Given the description of an element on the screen output the (x, y) to click on. 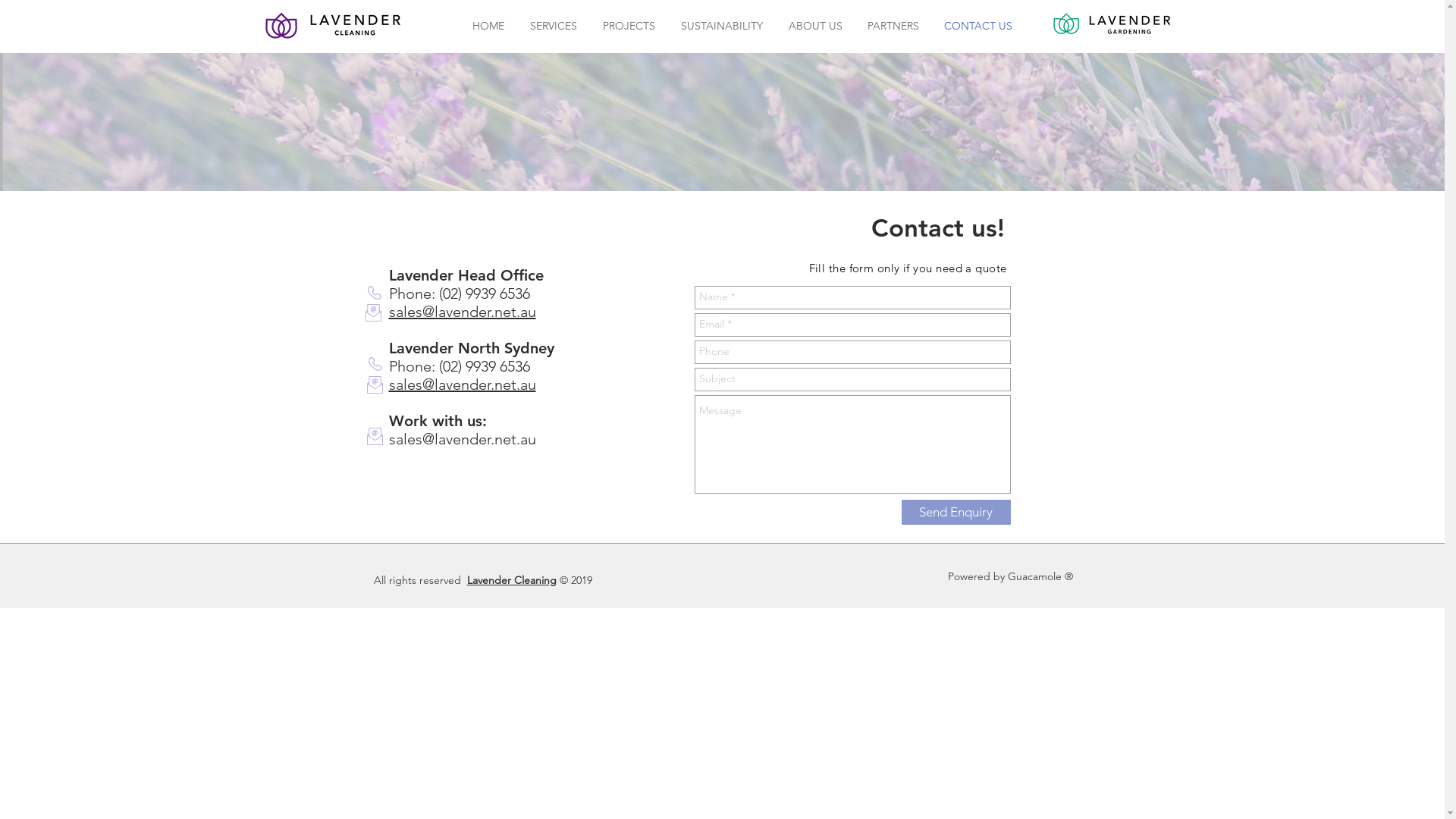
sales@lavender.net.au Element type: text (461, 311)
CONTACT US Element type: text (977, 25)
PROJECTS Element type: text (628, 25)
ABOUT US Element type: text (814, 25)
sales@lavender.net.au Element type: text (461, 384)
Send Enquiry Element type: text (955, 511)
PARTNERS Element type: text (893, 25)
SERVICES Element type: text (553, 25)
HOME Element type: text (488, 25)
SUSTAINABILITY Element type: text (721, 25)
